Given the description of an element on the screen output the (x, y) to click on. 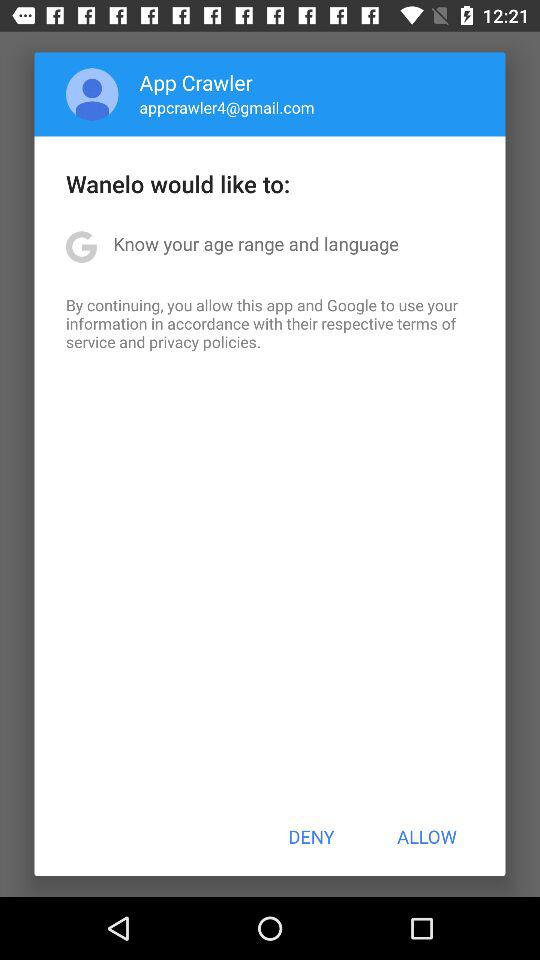
tap the deny item (311, 836)
